Given the description of an element on the screen output the (x, y) to click on. 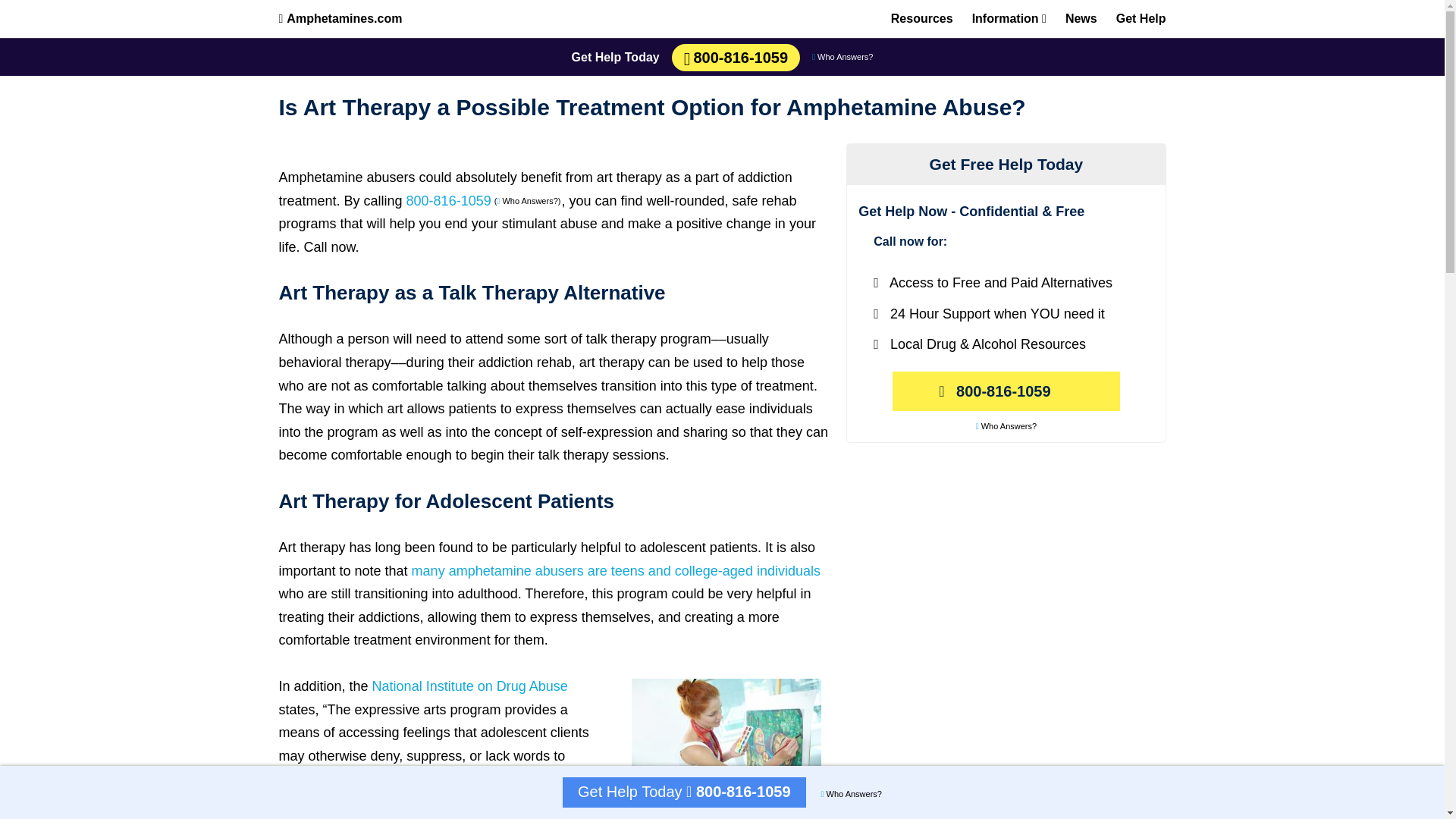
National Institute on Drug Abuse (469, 685)
800-816-1059 (1005, 391)
Amphetamines.com (341, 18)
800-816-1059 (449, 200)
Information (1009, 18)
Get Help Today (631, 791)
Free and Confidential. Call Amphetamines.com (737, 791)
Get Help Today (615, 57)
Resources (922, 18)
